Given the description of an element on the screen output the (x, y) to click on. 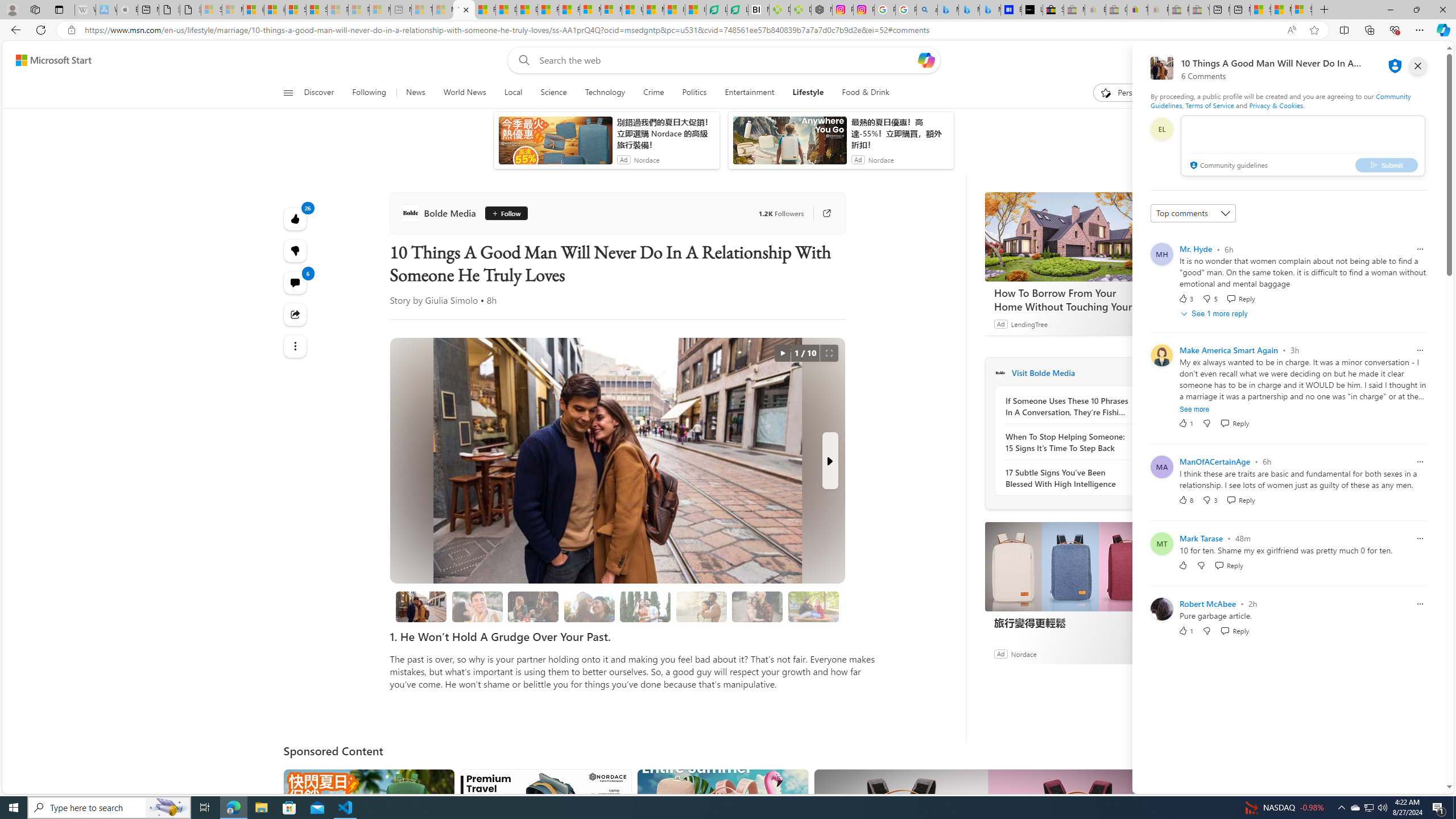
Discover (319, 92)
Science (553, 92)
How To Borrow From Your Home Without Touching Your Mortgage (1069, 299)
autorotate button (782, 352)
Entertainment (748, 92)
boyfriend holding girlfriend close sunshine (700, 606)
Class: at-item (295, 345)
Notifications (1397, 60)
Terms of Service (1209, 104)
